Given the description of an element on the screen output the (x, y) to click on. 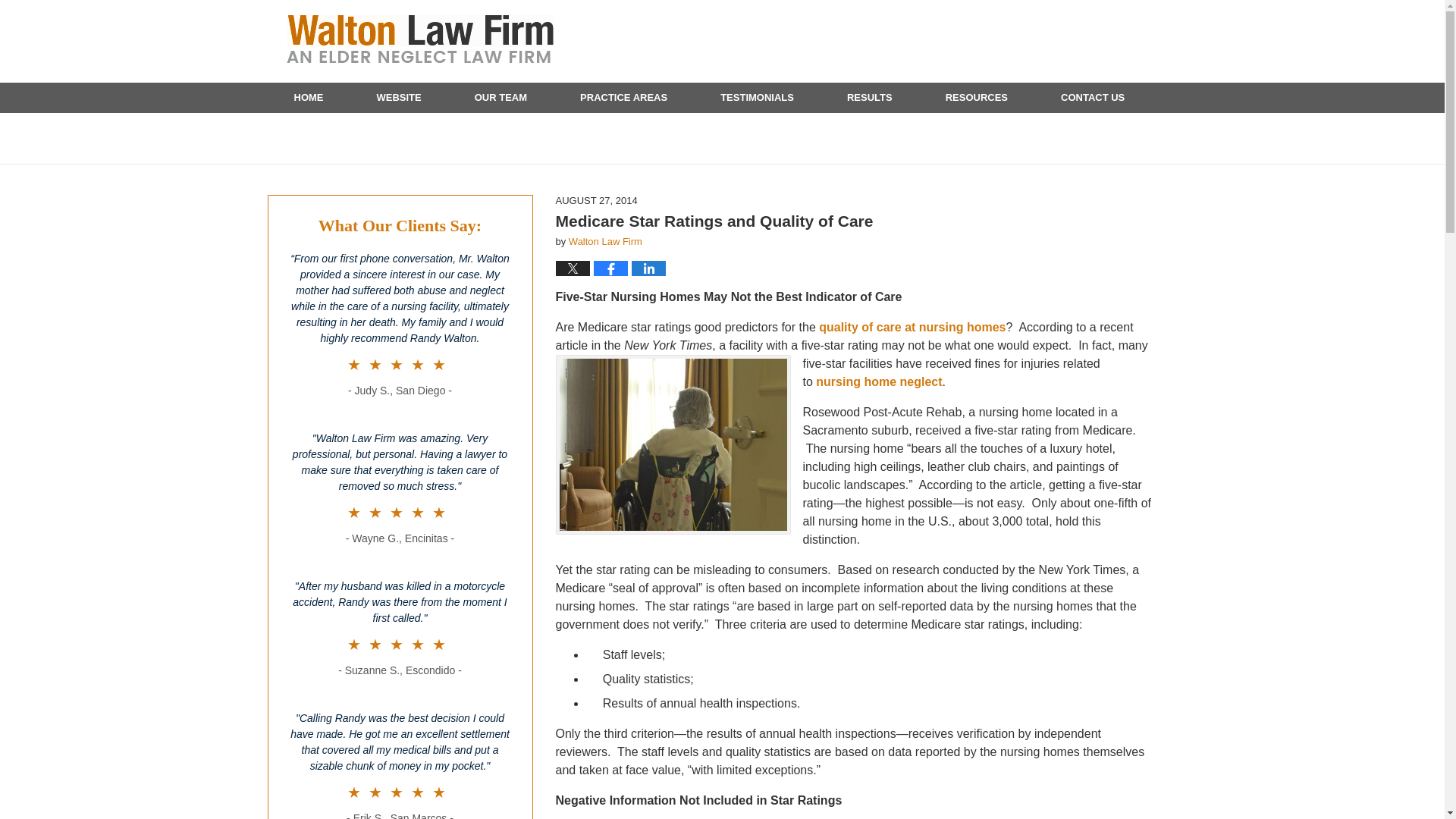
PRACTICE AREAS (623, 97)
RESULTS (869, 97)
TESTIMONIALS (757, 97)
RESOURCES (975, 97)
Southern California Nursing Home Abuse Lawyer Blog (419, 39)
Published By Walton Law Firm (1072, 41)
quality of care at nursing homes (912, 327)
Walton Law Firm (605, 241)
nursing home neglect (878, 381)
OUR TEAM (500, 97)
